Given the description of an element on the screen output the (x, y) to click on. 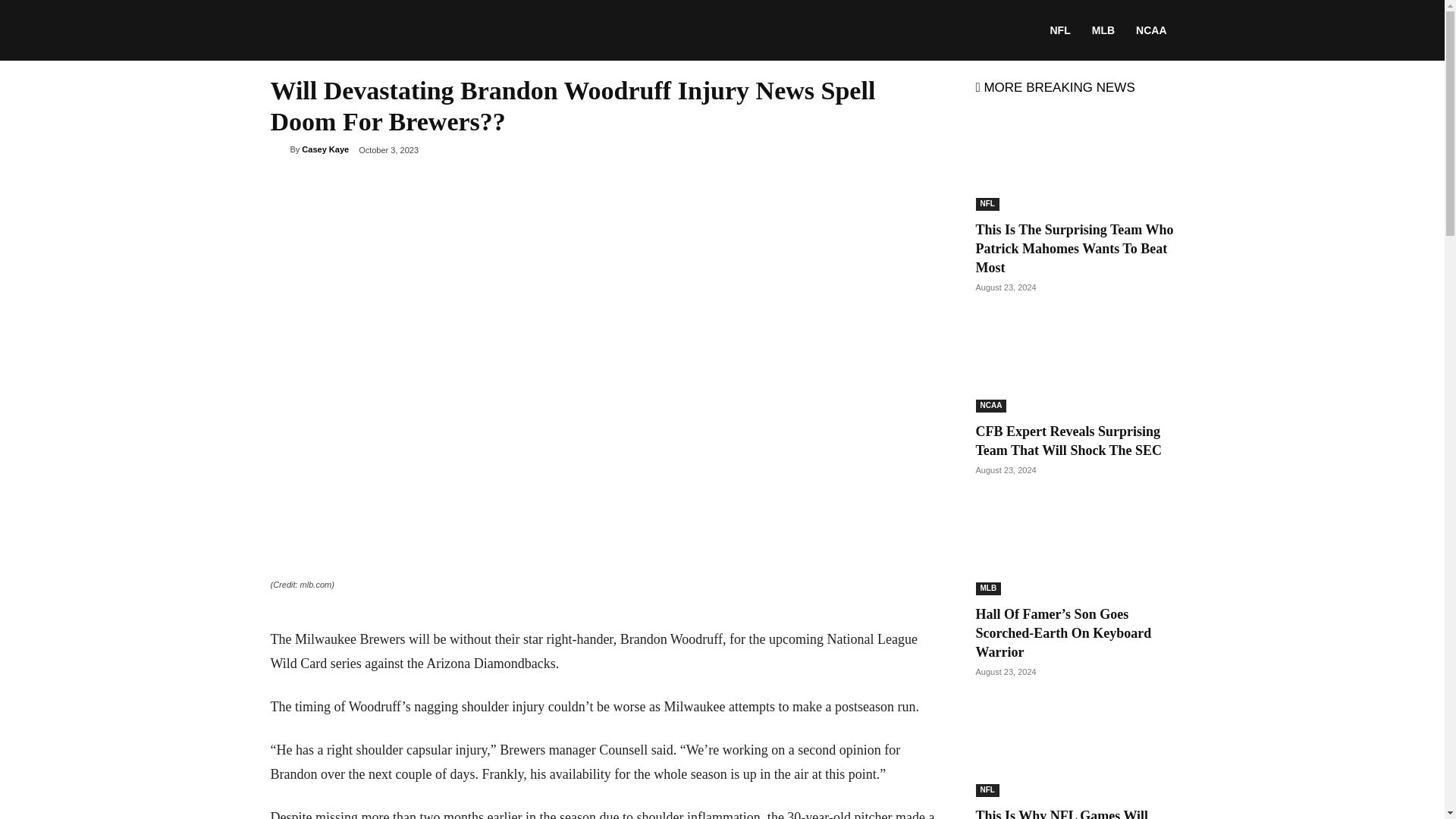
Casey Kaye (325, 149)
CFB Expert Reveals Surprising Team That Will Shock The SEC (1068, 440)
CFB Expert Reveals Surprising Team That Will Shock The SEC (1074, 362)
NFL (986, 204)
MLB (988, 588)
Casey Kaye (279, 149)
NCAA (990, 405)
CFB Expert Reveals Surprising Team That Will Shock The SEC (1068, 440)
